Given the description of an element on the screen output the (x, y) to click on. 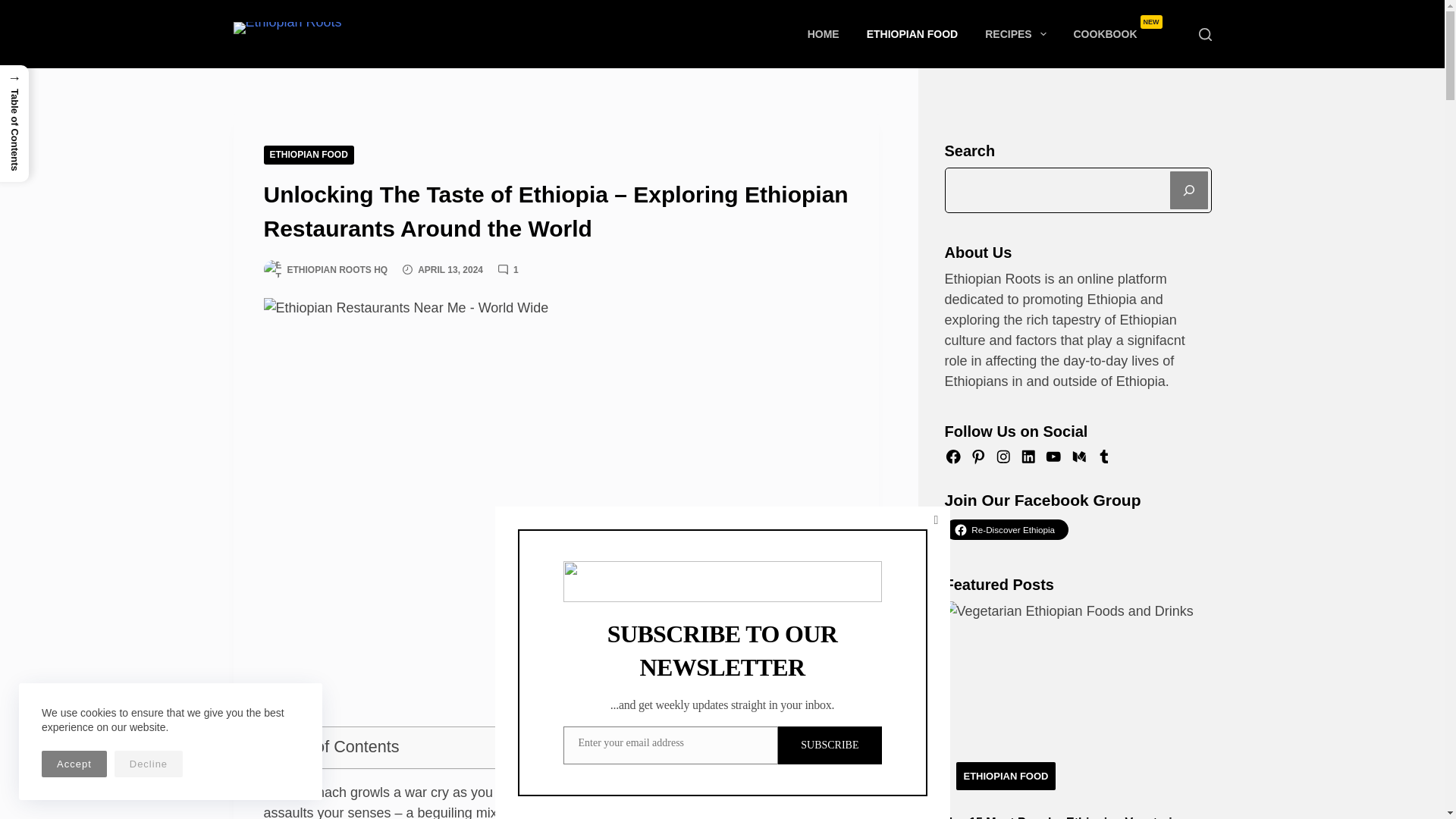
Accept (74, 764)
Posts by Ethiopian Roots HQ (336, 269)
ETHIOPIAN FOOD (912, 33)
Decline (149, 764)
RECIPES (1015, 33)
ETHIOPIAN FOOD (1117, 33)
Skip to content (308, 154)
